Given the description of an element on the screen output the (x, y) to click on. 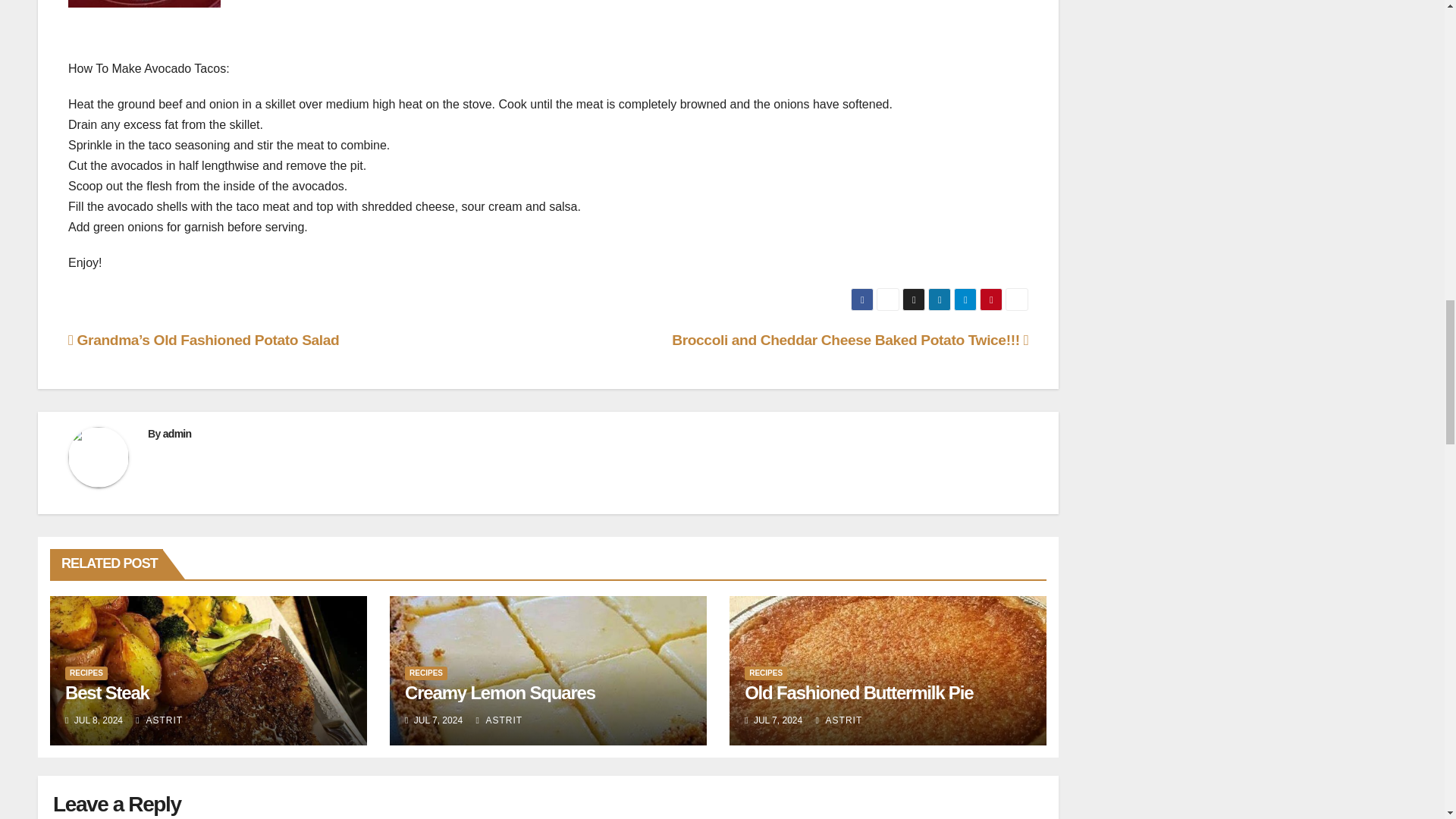
Old Fashioned Buttermilk Pie (858, 692)
admin (177, 433)
ASTRIT (838, 719)
RECIPES (425, 673)
Best Steak (107, 692)
Permalink to: Best Steak (107, 692)
Creamy Lemon Squares (499, 692)
RECIPES (86, 673)
Permalink to: Old Fashioned Buttermilk Pie (858, 692)
Permalink to: Creamy Lemon Squares (499, 692)
